Given the description of an element on the screen output the (x, y) to click on. 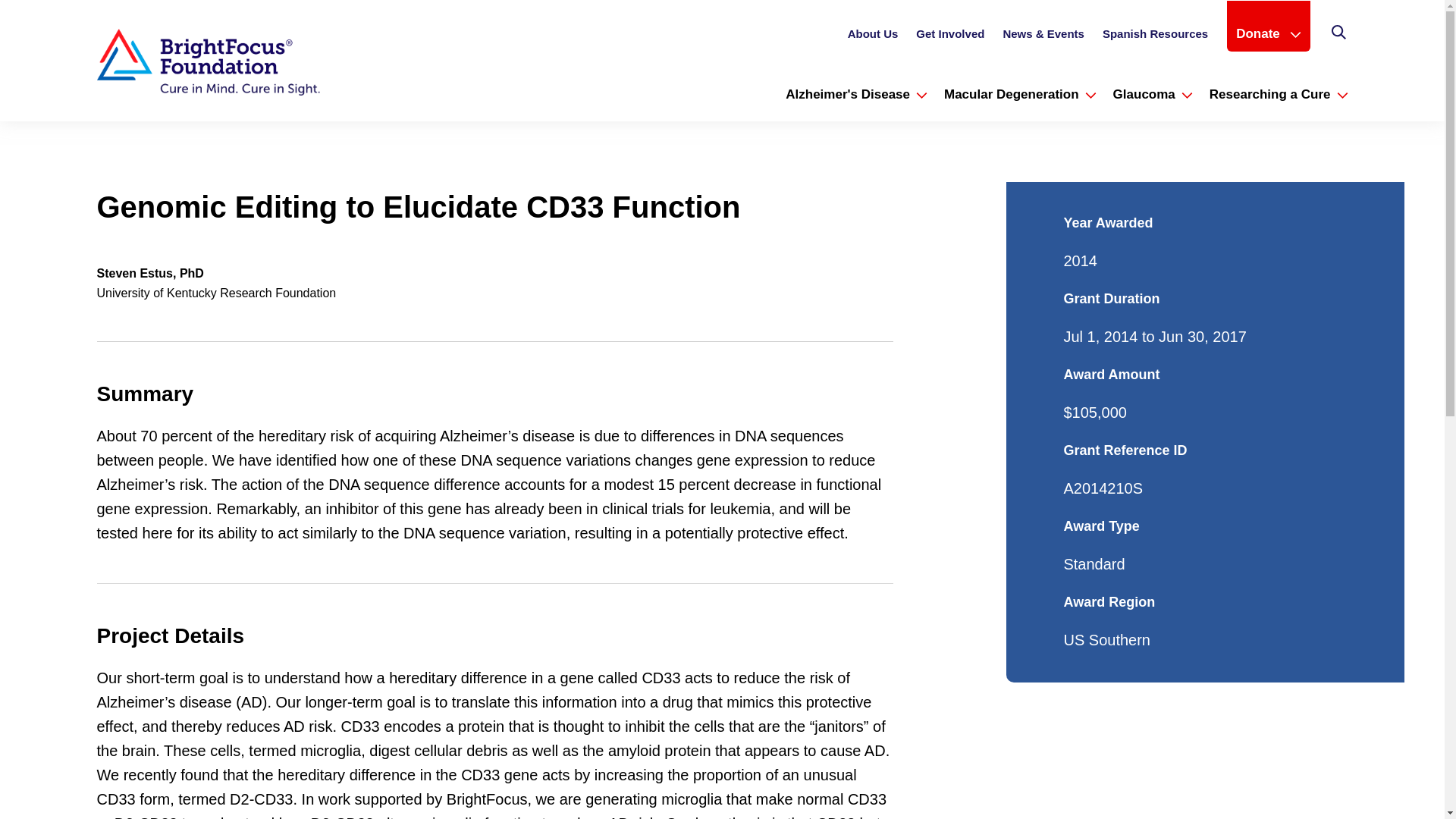
Donate (1267, 33)
About Us (872, 37)
Search (1339, 32)
Search (1337, 34)
Spanish Resources (1155, 37)
Get Involved (949, 37)
